Given the description of an element on the screen output the (x, y) to click on. 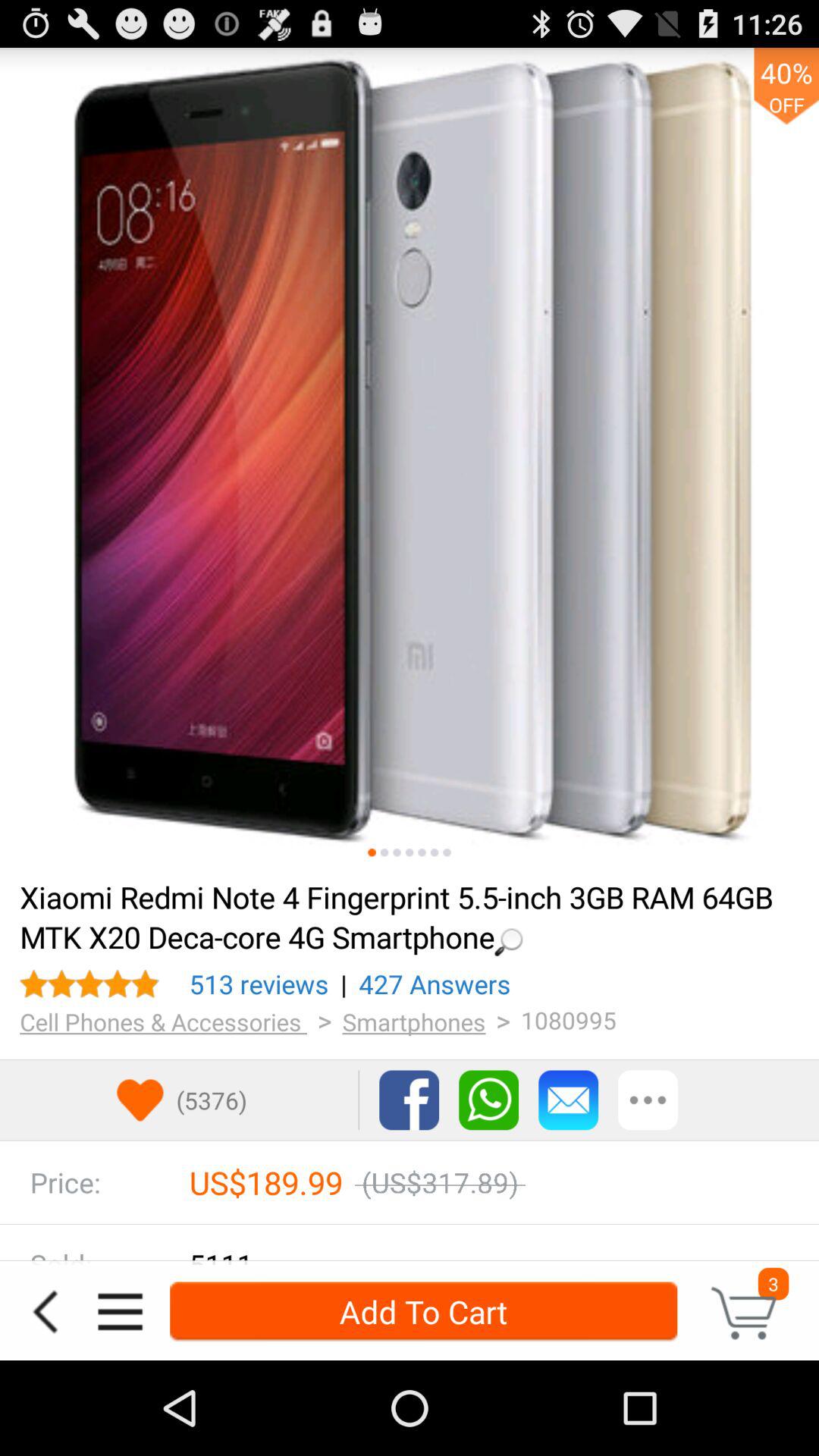
next image (396, 852)
